Given the description of an element on the screen output the (x, y) to click on. 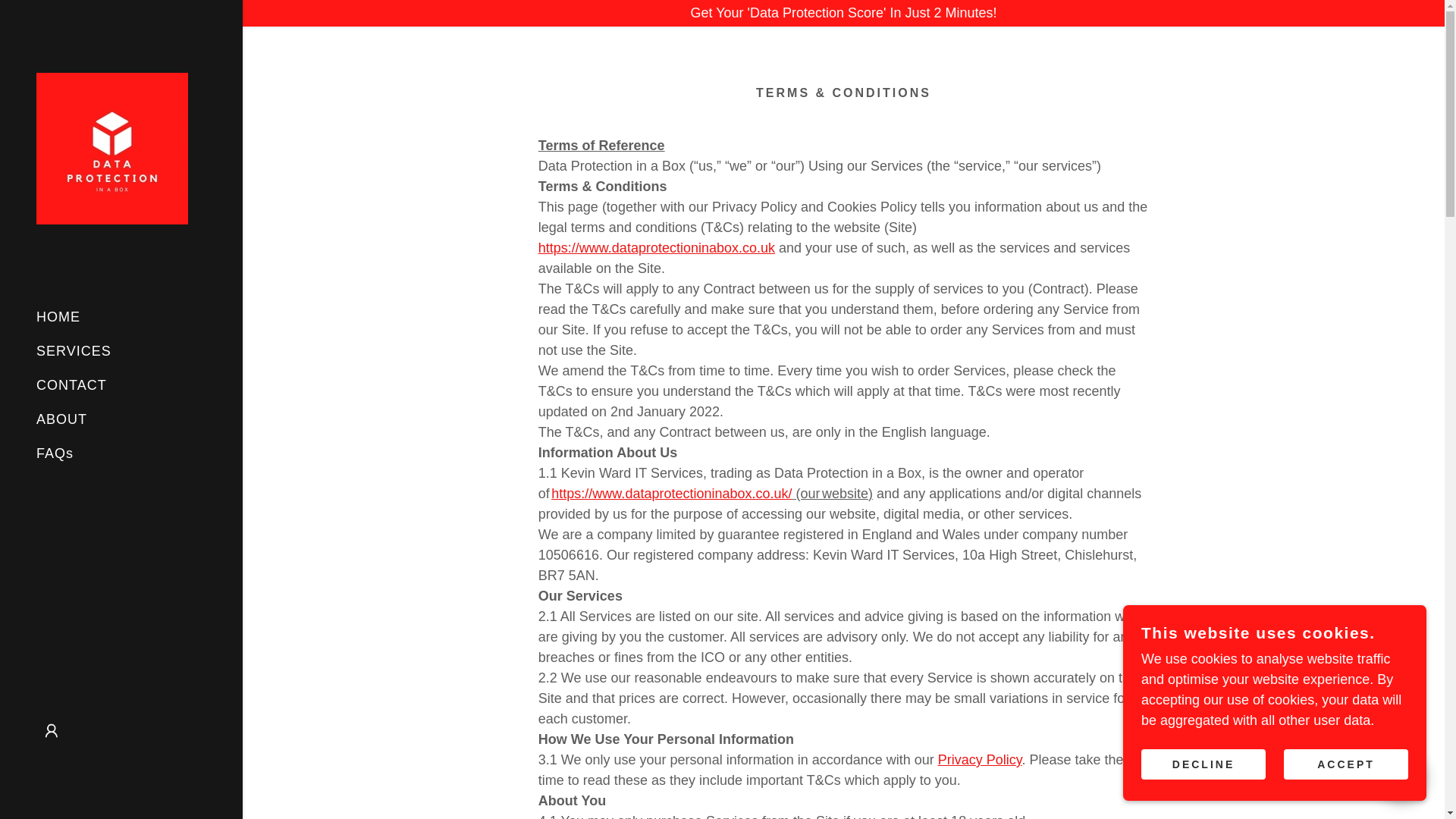
FAQs (55, 453)
DECLINE (1203, 764)
ACCEPT (1345, 764)
SERVICES (74, 350)
CONTACT (71, 385)
ABOUT (61, 418)
Privacy Policy (979, 759)
HOME (58, 316)
